Given the description of an element on the screen output the (x, y) to click on. 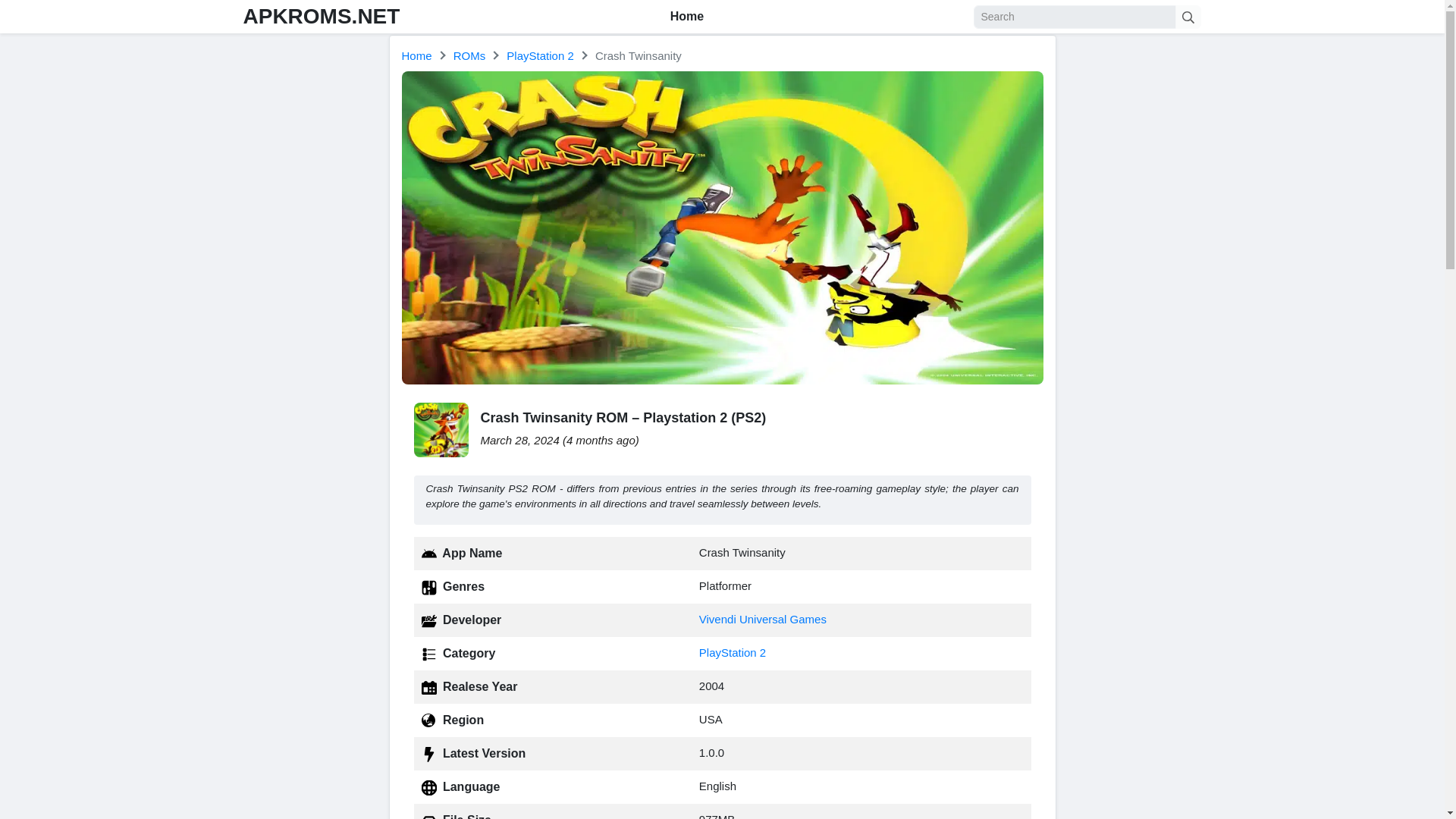
APKROMS.NET (320, 15)
Home (416, 55)
PlayStation 2 (539, 55)
Home (687, 16)
Home (416, 55)
ROMs (469, 55)
Vivendi Universal Games (762, 618)
PlayStation 2 (731, 652)
